Given the description of an element on the screen output the (x, y) to click on. 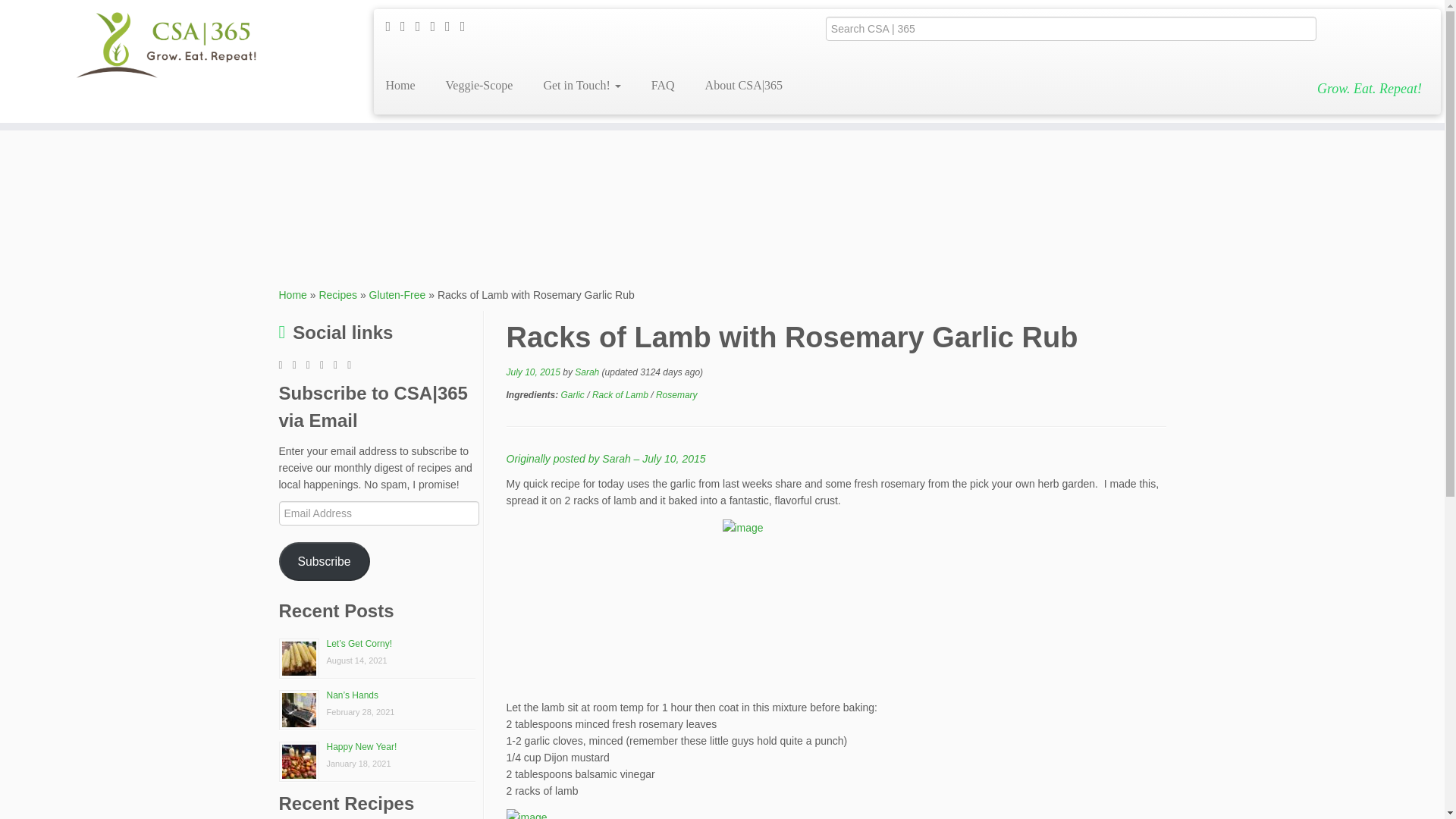
E-mail (407, 26)
Home (405, 85)
Gluten-Free (397, 295)
Veggie-Scope (479, 85)
Subscribe (324, 561)
Search for: (1070, 28)
Recipes (337, 295)
Follow me on Twitter (422, 26)
Follow me on Facebook (437, 26)
FAQ (663, 85)
